Given the description of an element on the screen output the (x, y) to click on. 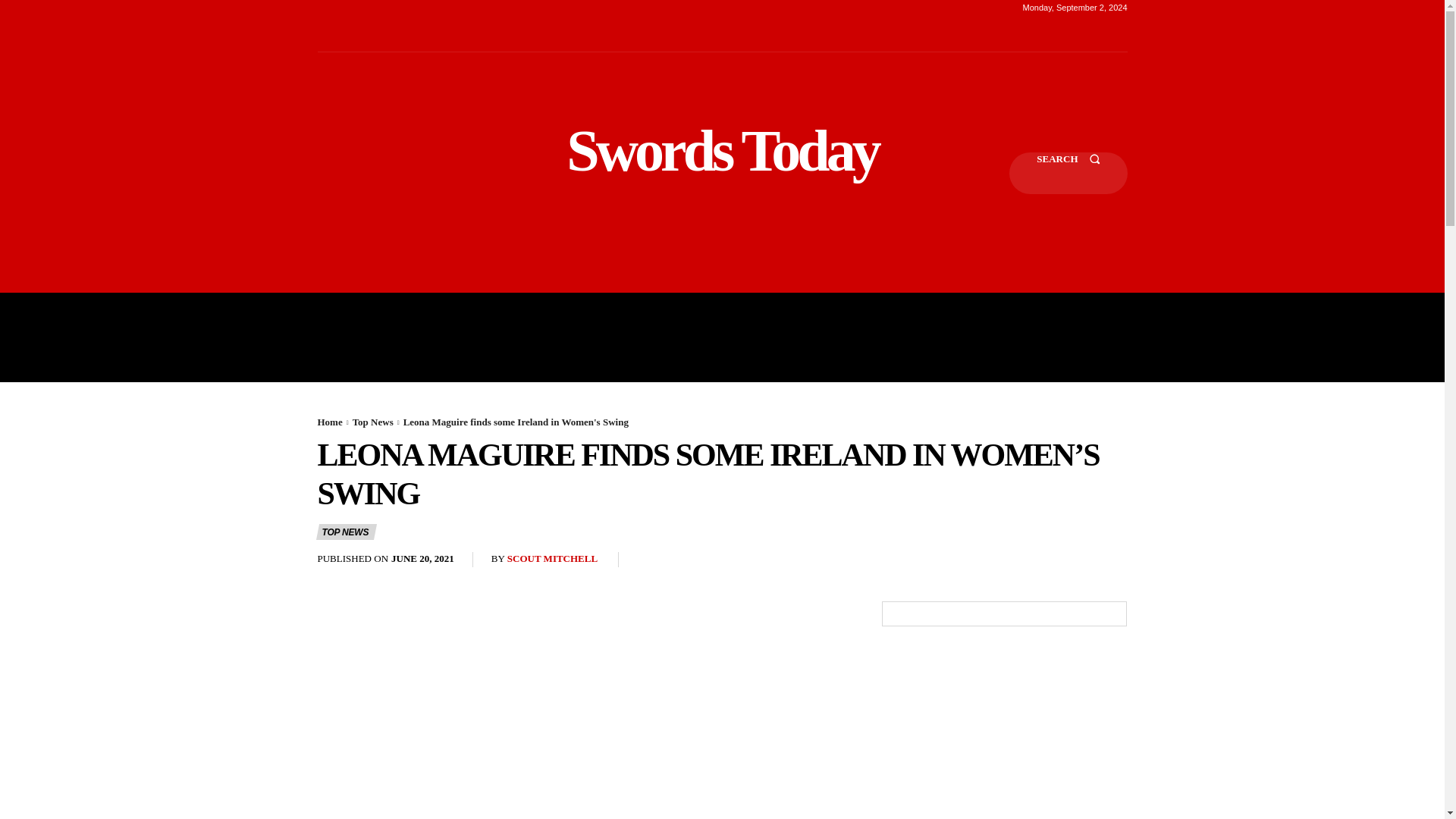
View all posts in Top News (372, 421)
SCOUT MITCHELL (551, 558)
SEARCH (1067, 173)
Home (329, 421)
Search (1067, 173)
Top News (372, 421)
Swords Today (722, 149)
TOP NEWS (345, 531)
